Given the description of an element on the screen output the (x, y) to click on. 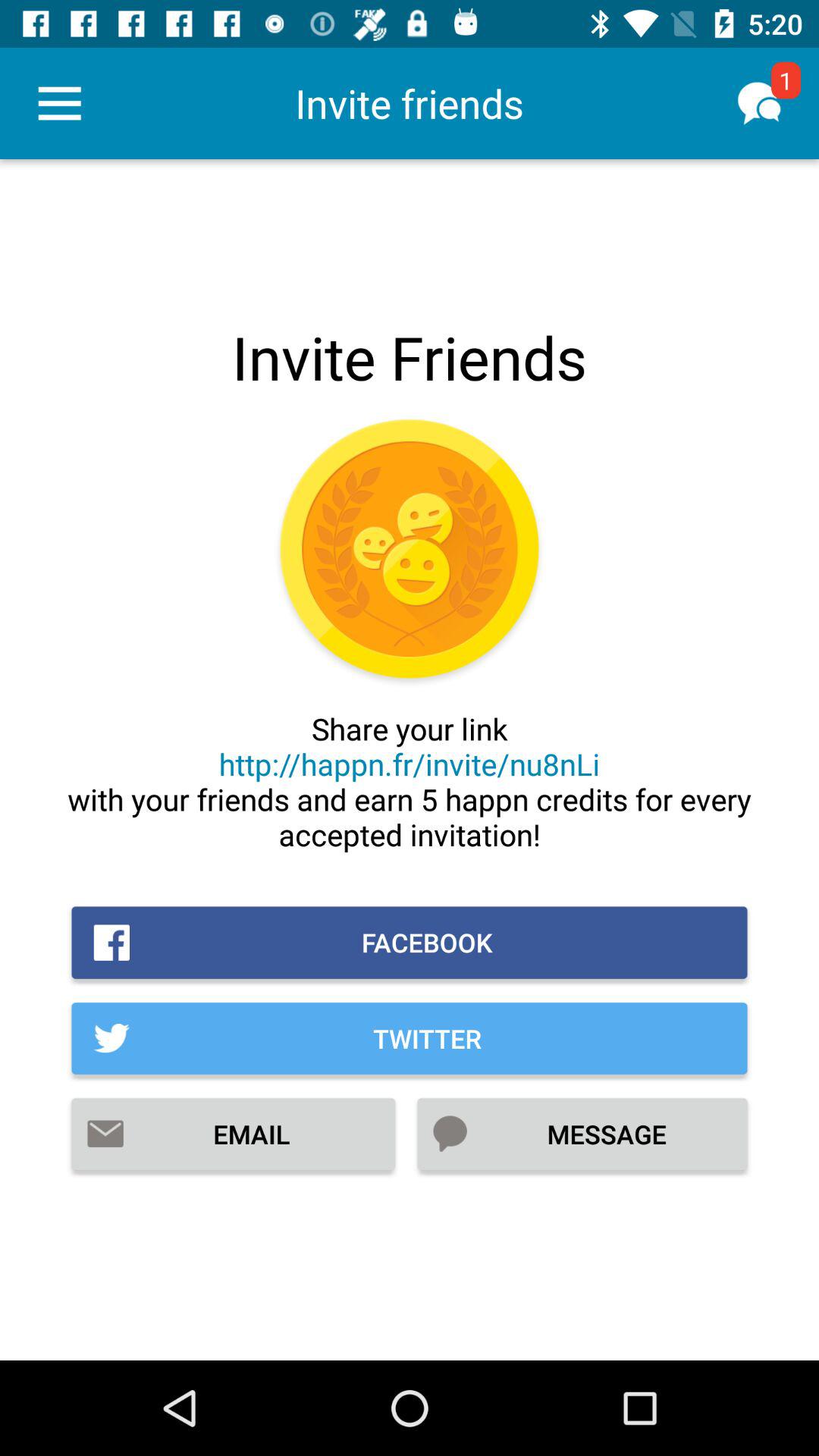
jump until twitter (409, 1038)
